Given the description of an element on the screen output the (x, y) to click on. 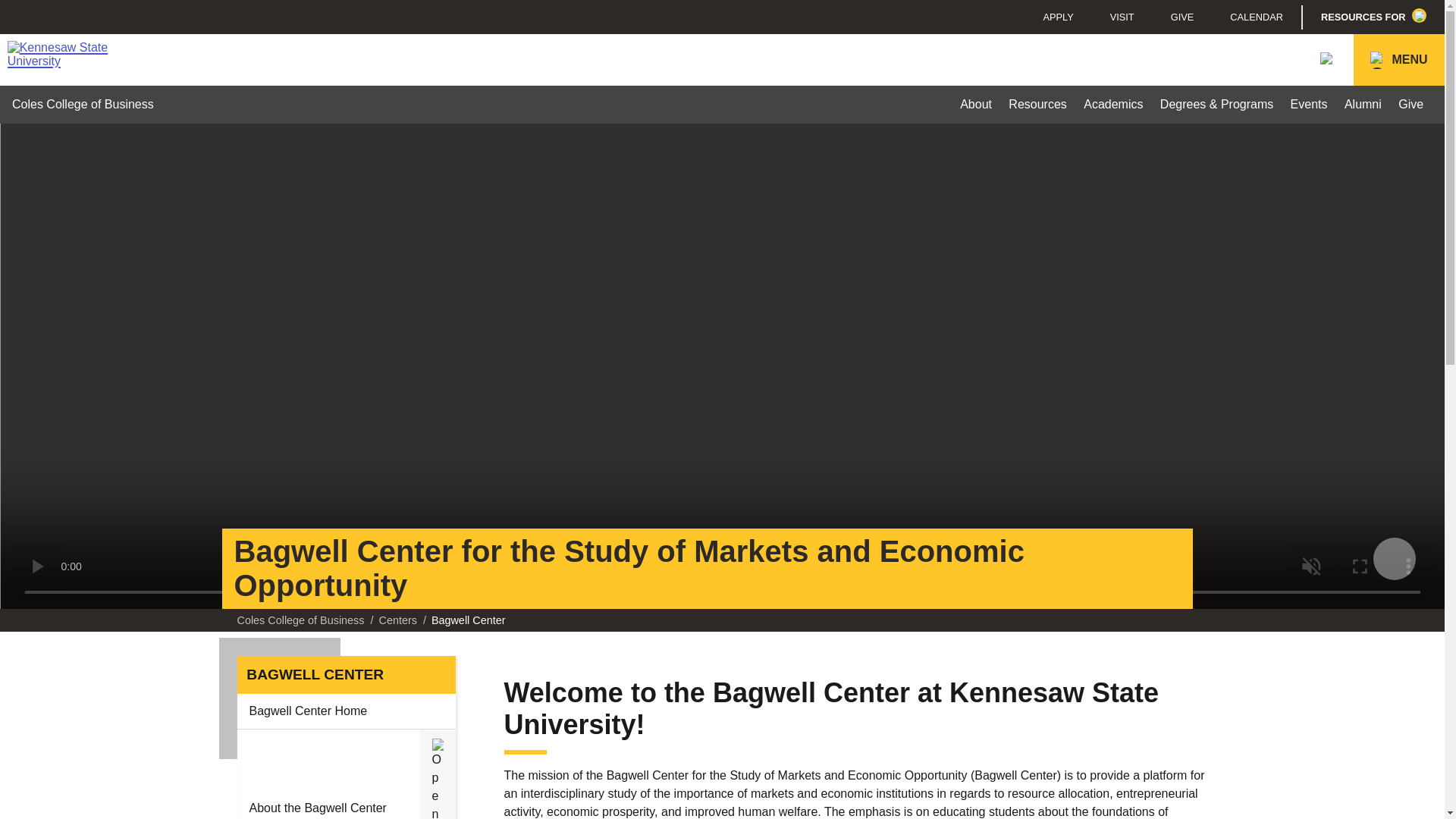
GIVE (1182, 17)
VISIT (1122, 17)
Coles College of Business (82, 104)
CALENDAR (1256, 17)
About (976, 104)
APPLY (1057, 17)
